Given the description of an element on the screen output the (x, y) to click on. 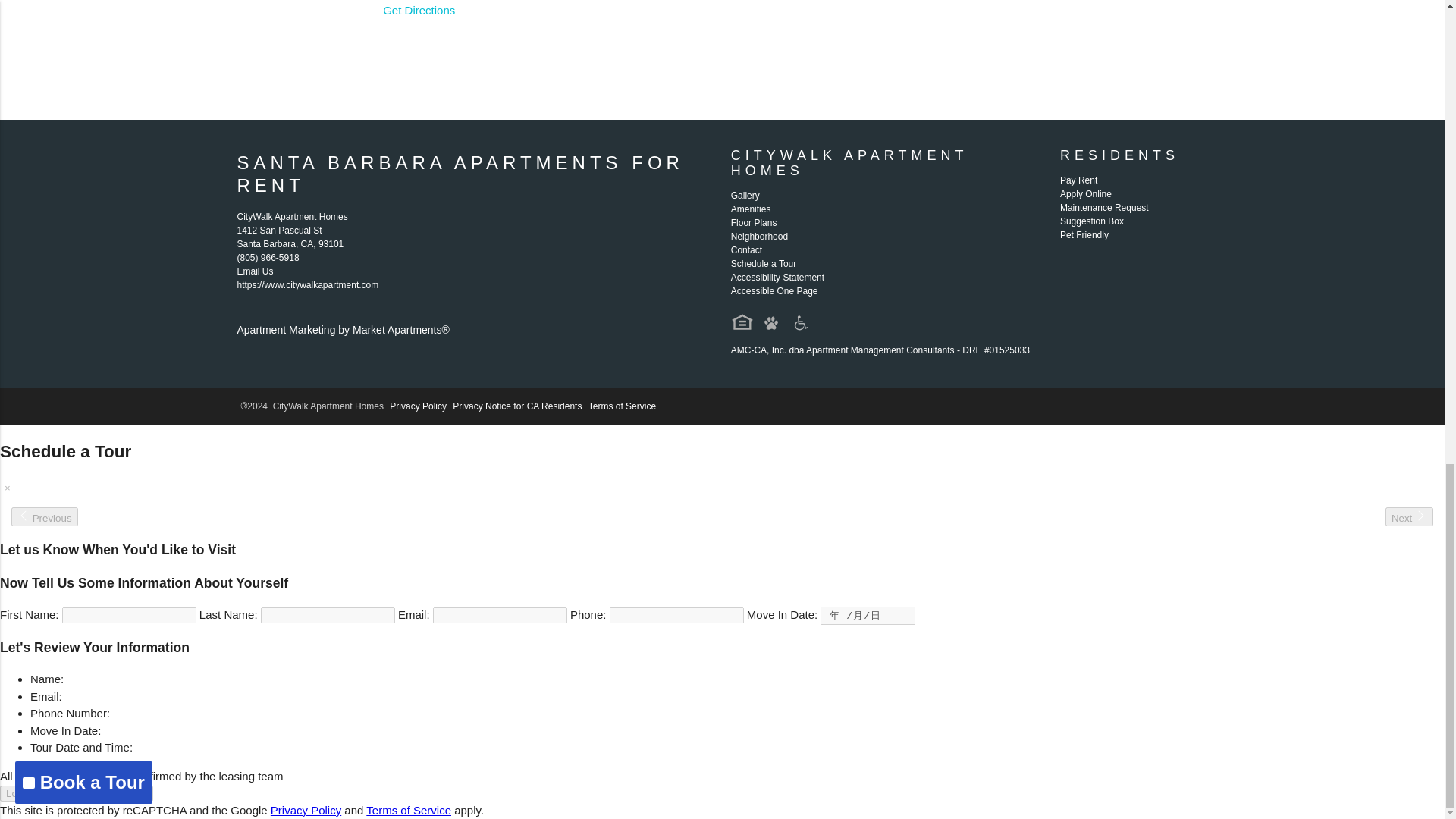
Disability Access Apartments (799, 322)
Equal Housing CityWalk Apartment Homes Apartments (742, 321)
Pet Friendly Apartments in Santa Barbara (771, 322)
